Given the description of an element on the screen output the (x, y) to click on. 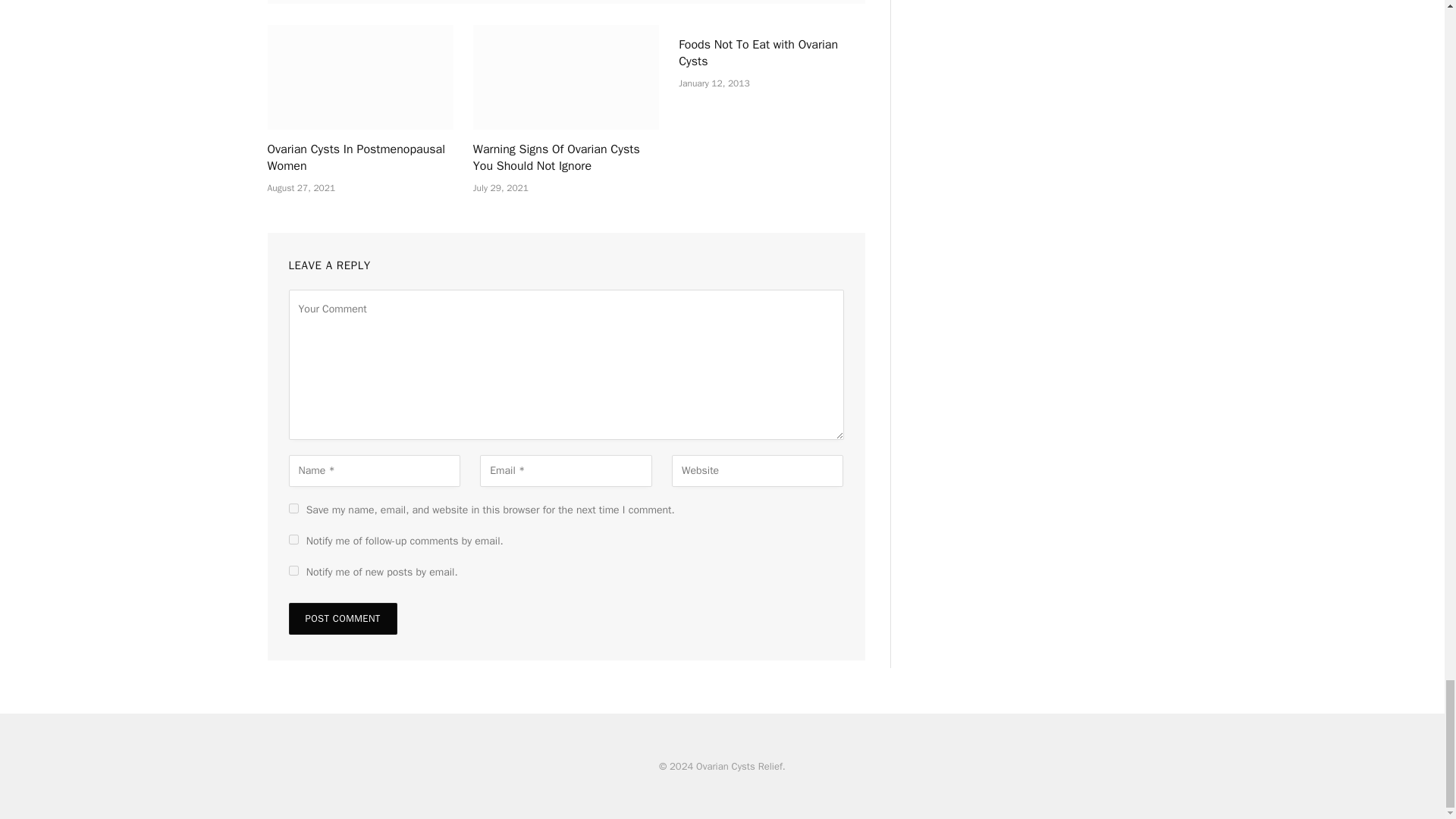
Post Comment (342, 618)
subscribe (293, 570)
Ovarian Cysts In Postmenopausal Women (359, 77)
Warning Signs Of Ovarian Cysts You Should Not Ignore (566, 158)
Post Comment (342, 618)
yes (293, 508)
Ovarian Cysts In Postmenopausal Women (359, 158)
Foods Not To Eat with Ovarian Cysts (771, 53)
Warning Signs Of Ovarian Cysts You Should Not Ignore (566, 77)
subscribe (293, 539)
